Given the description of an element on the screen output the (x, y) to click on. 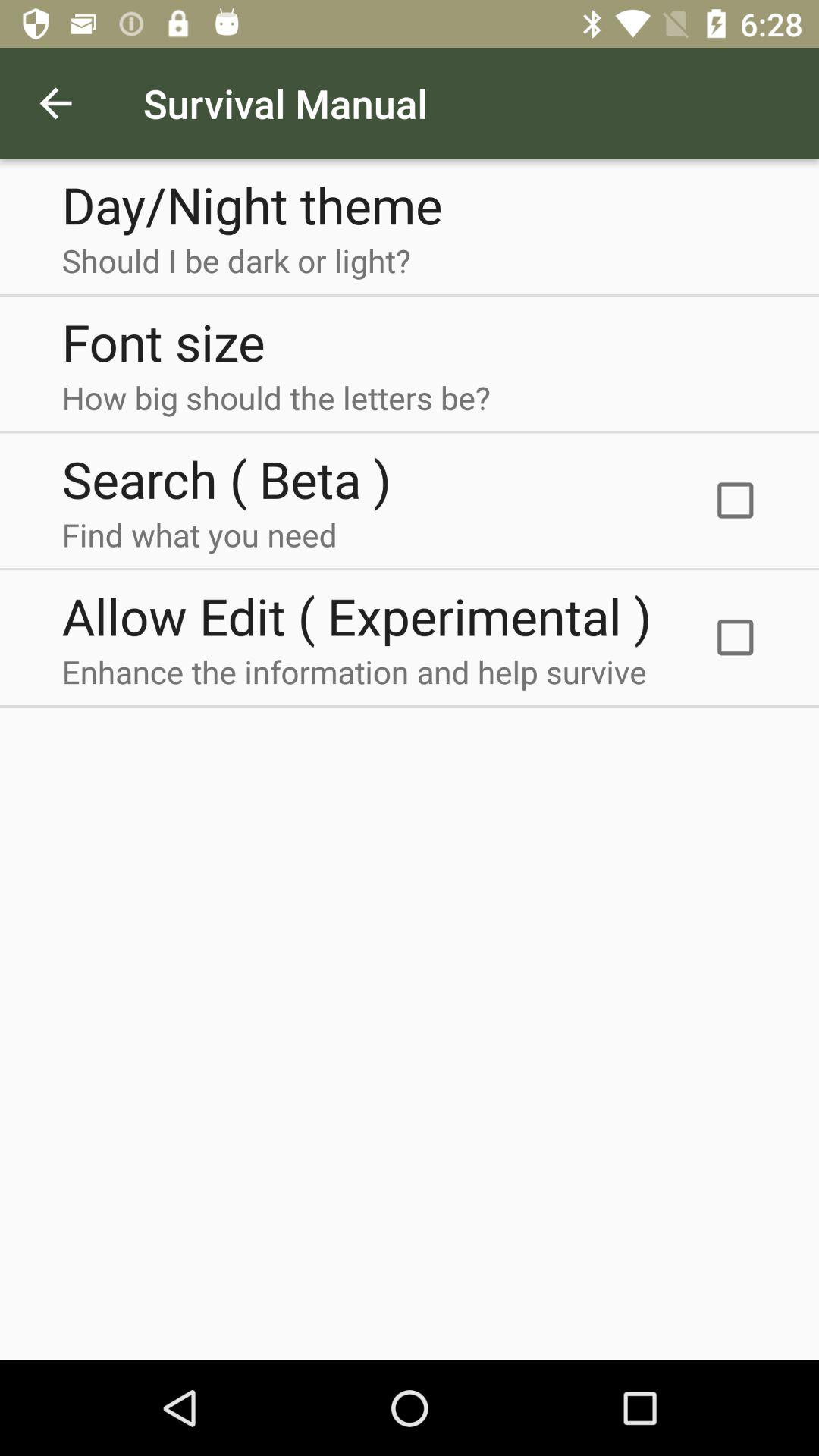
launch icon to the left of the survival manual (55, 103)
